Given the description of an element on the screen output the (x, y) to click on. 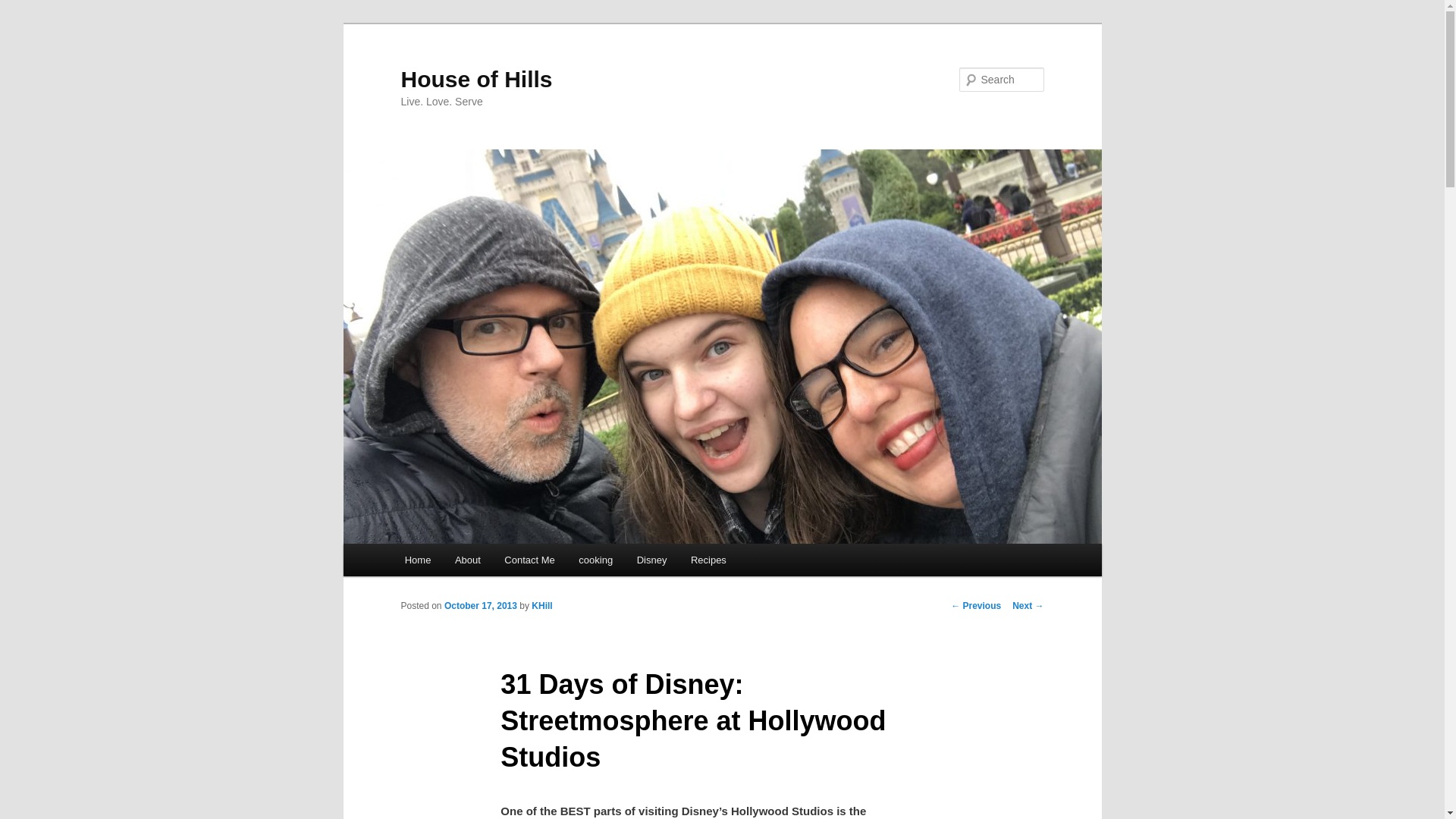
cooking (595, 559)
KHill (541, 605)
Recipes (708, 559)
Disney (651, 559)
Home (417, 559)
Search (24, 8)
October 17, 2013 (480, 605)
9:25 AM (480, 605)
About (467, 559)
